Given the description of an element on the screen output the (x, y) to click on. 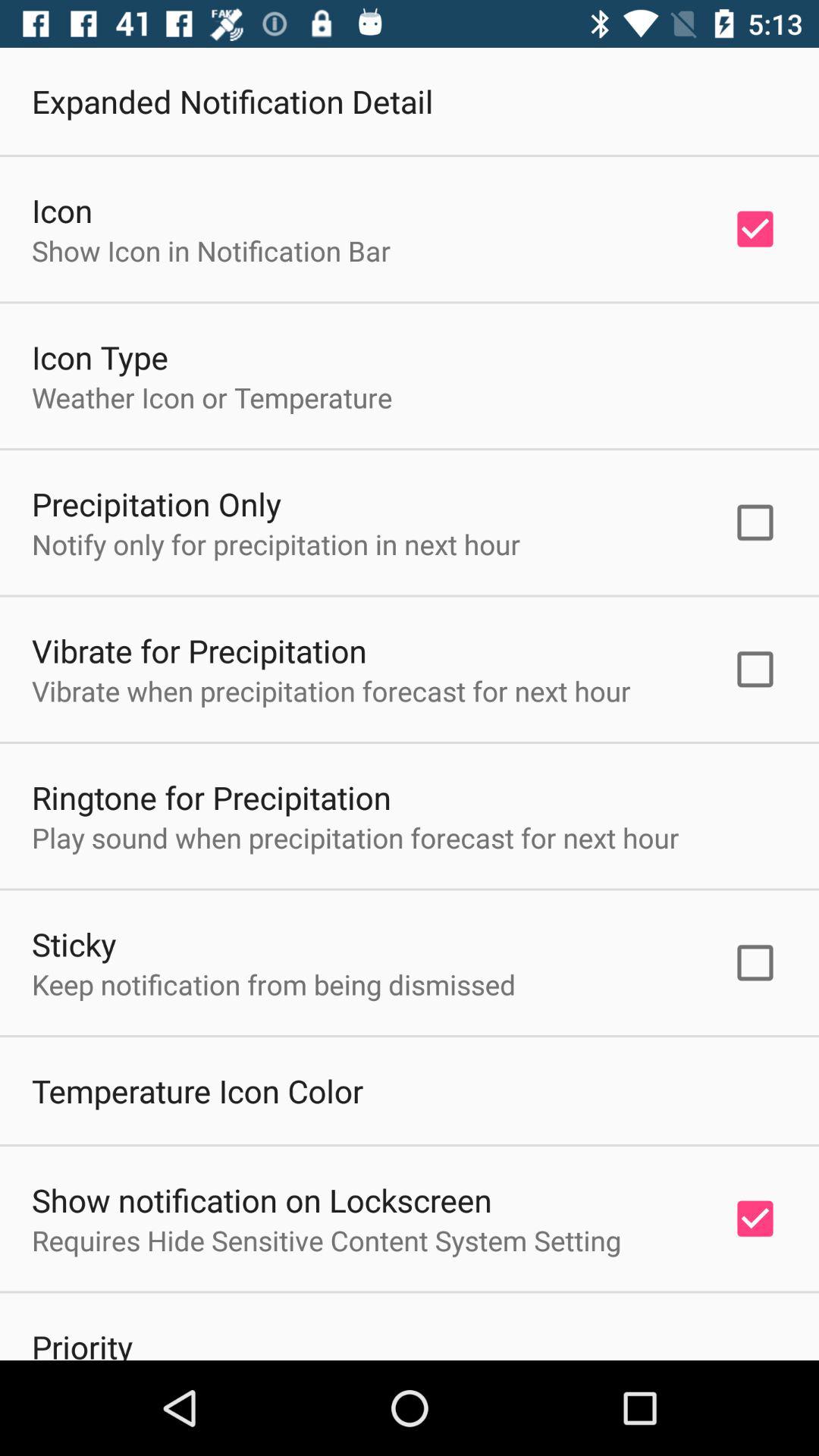
scroll until the play sound when item (355, 837)
